Given the description of an element on the screen output the (x, y) to click on. 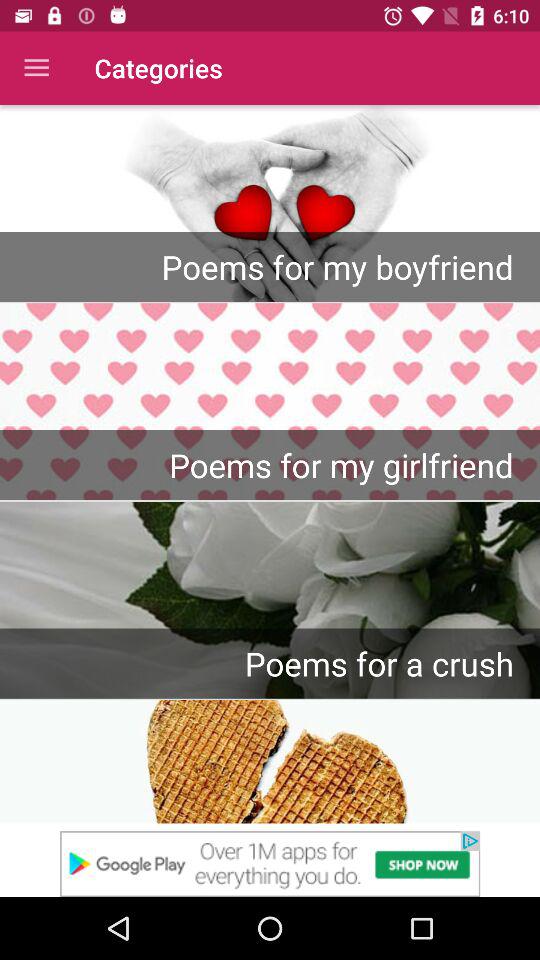
advertisement option (270, 864)
